Given the description of an element on the screen output the (x, y) to click on. 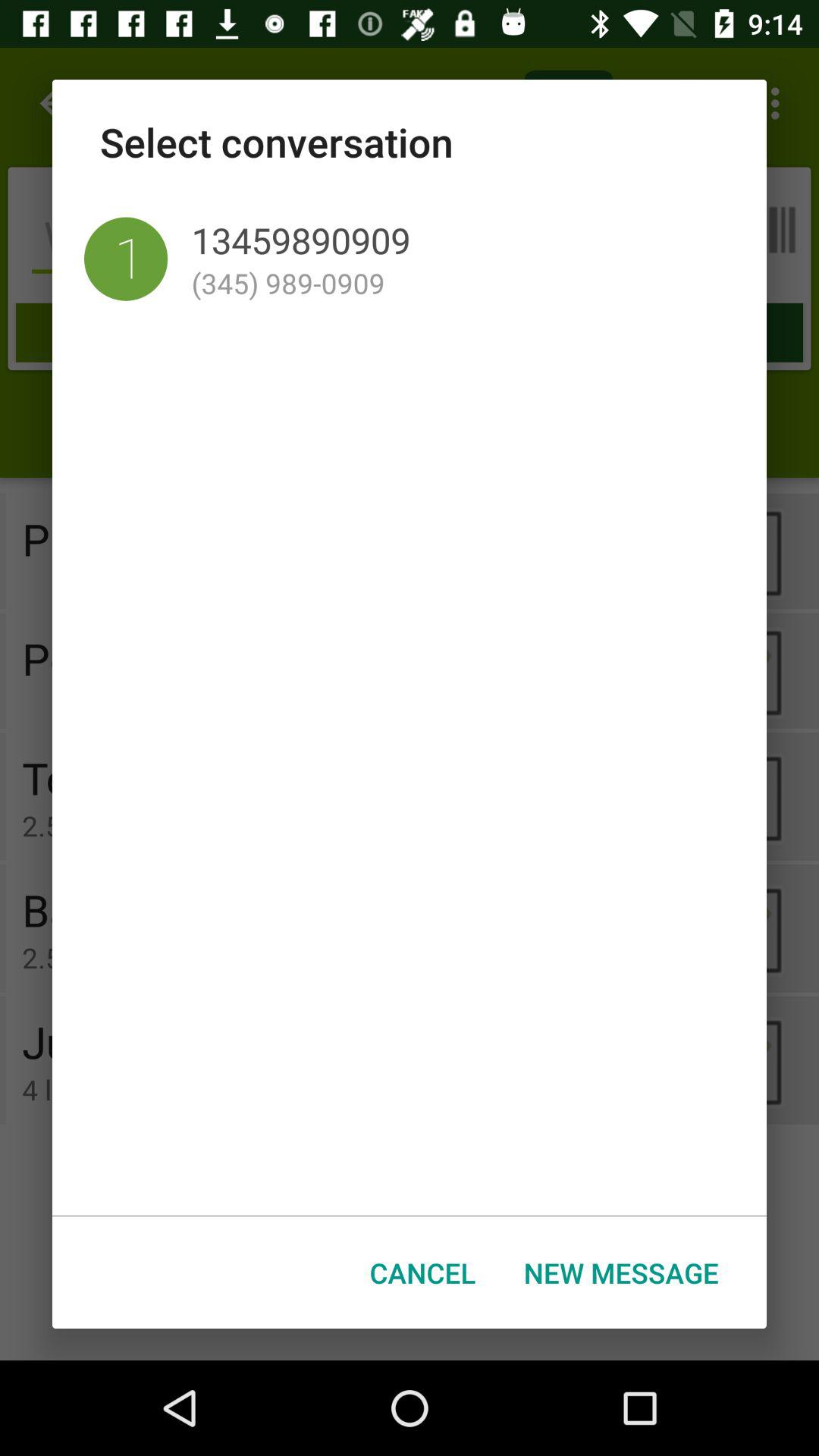
press the item next to 13459890909 (125, 258)
